Given the description of an element on the screen output the (x, y) to click on. 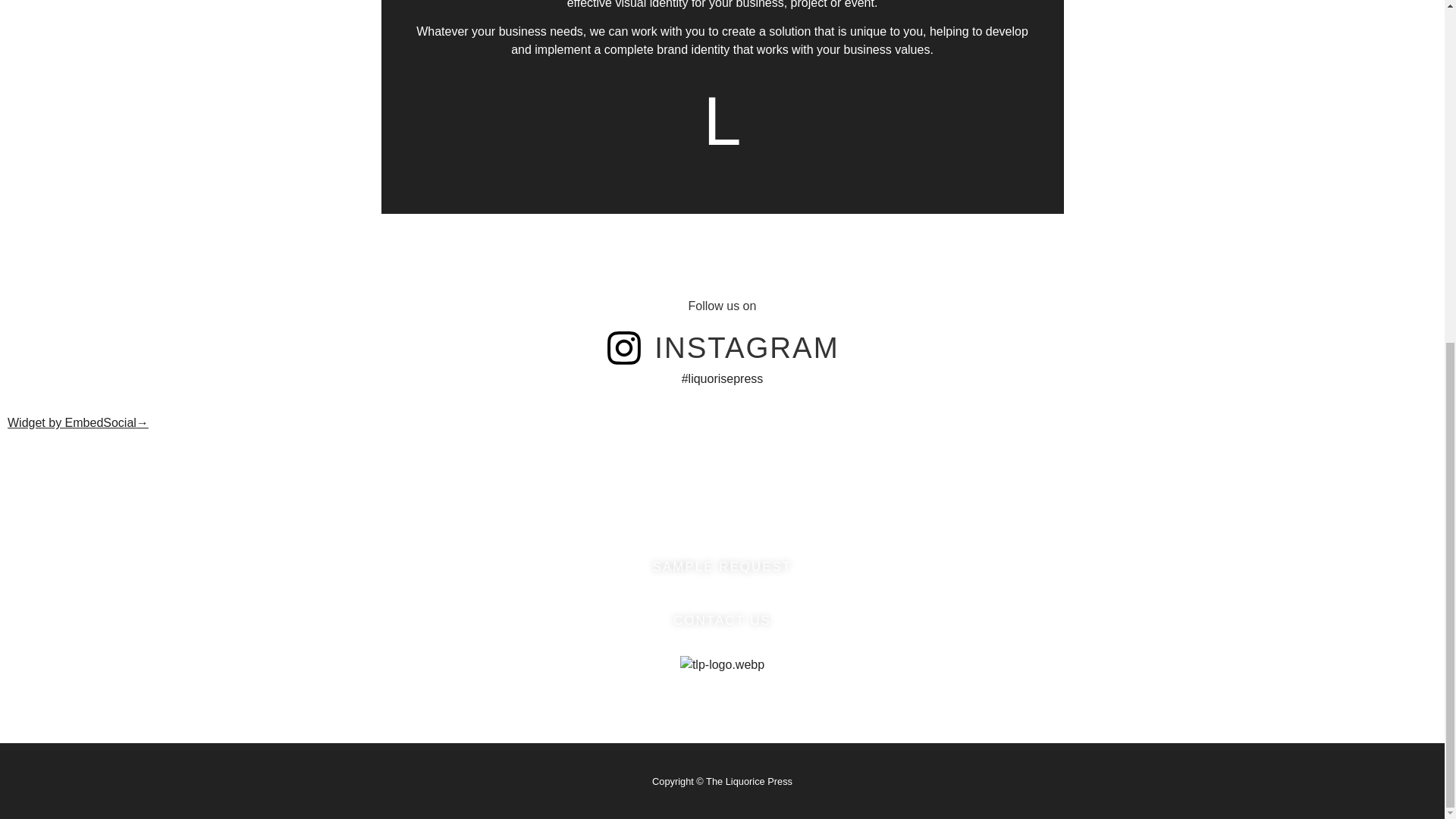
tlp-logo.webp (721, 665)
Widget by EmbedSocial (77, 422)
SAMPLE REQUEST (722, 566)
INSTAGRAM (745, 347)
CONTACT US (722, 620)
